Given the description of an element on the screen output the (x, y) to click on. 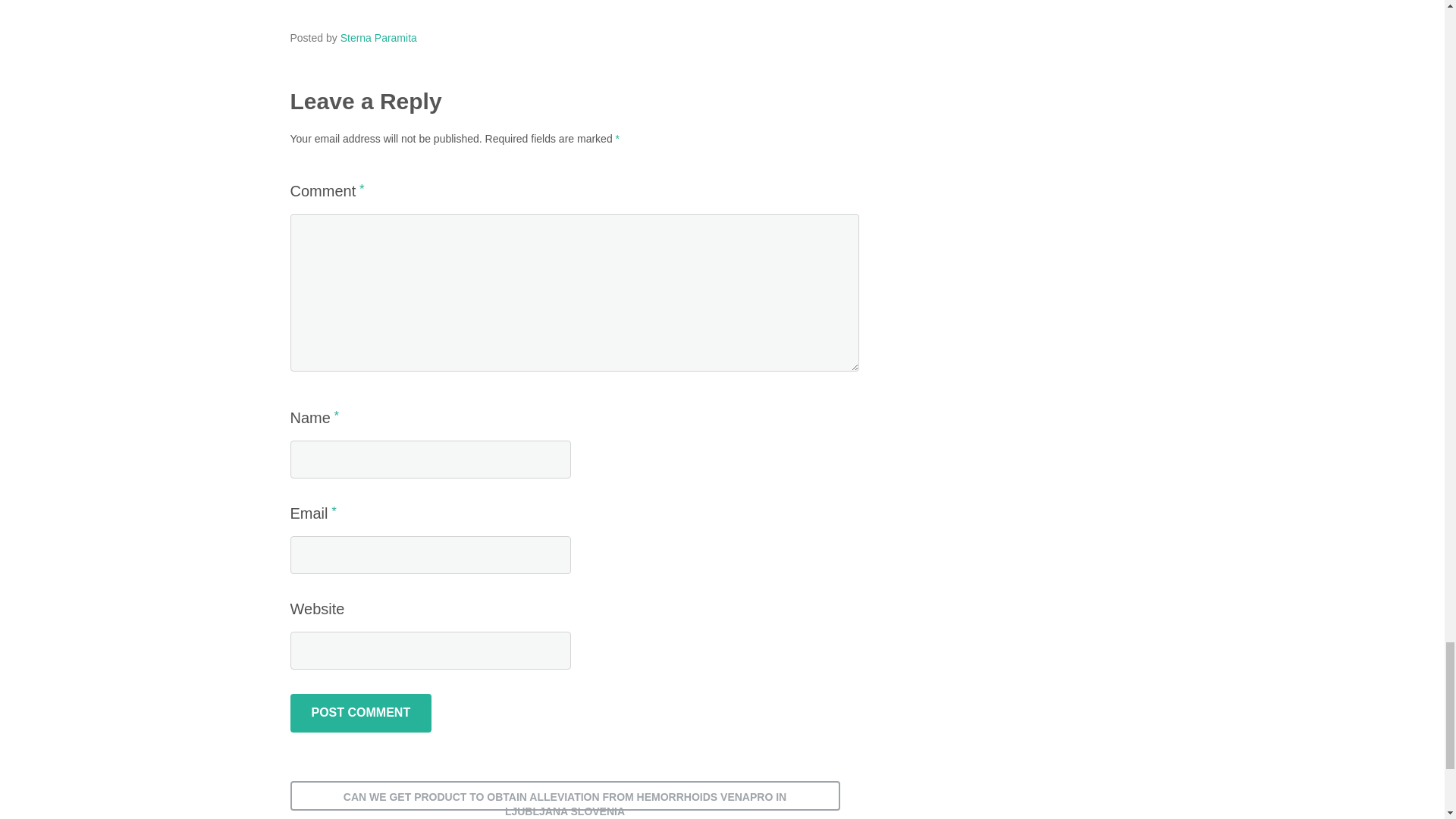
Sterna Paramita (378, 37)
Posts by Sterna Paramita (378, 37)
Post Comment (359, 712)
Post Comment (359, 712)
